Given the description of an element on the screen output the (x, y) to click on. 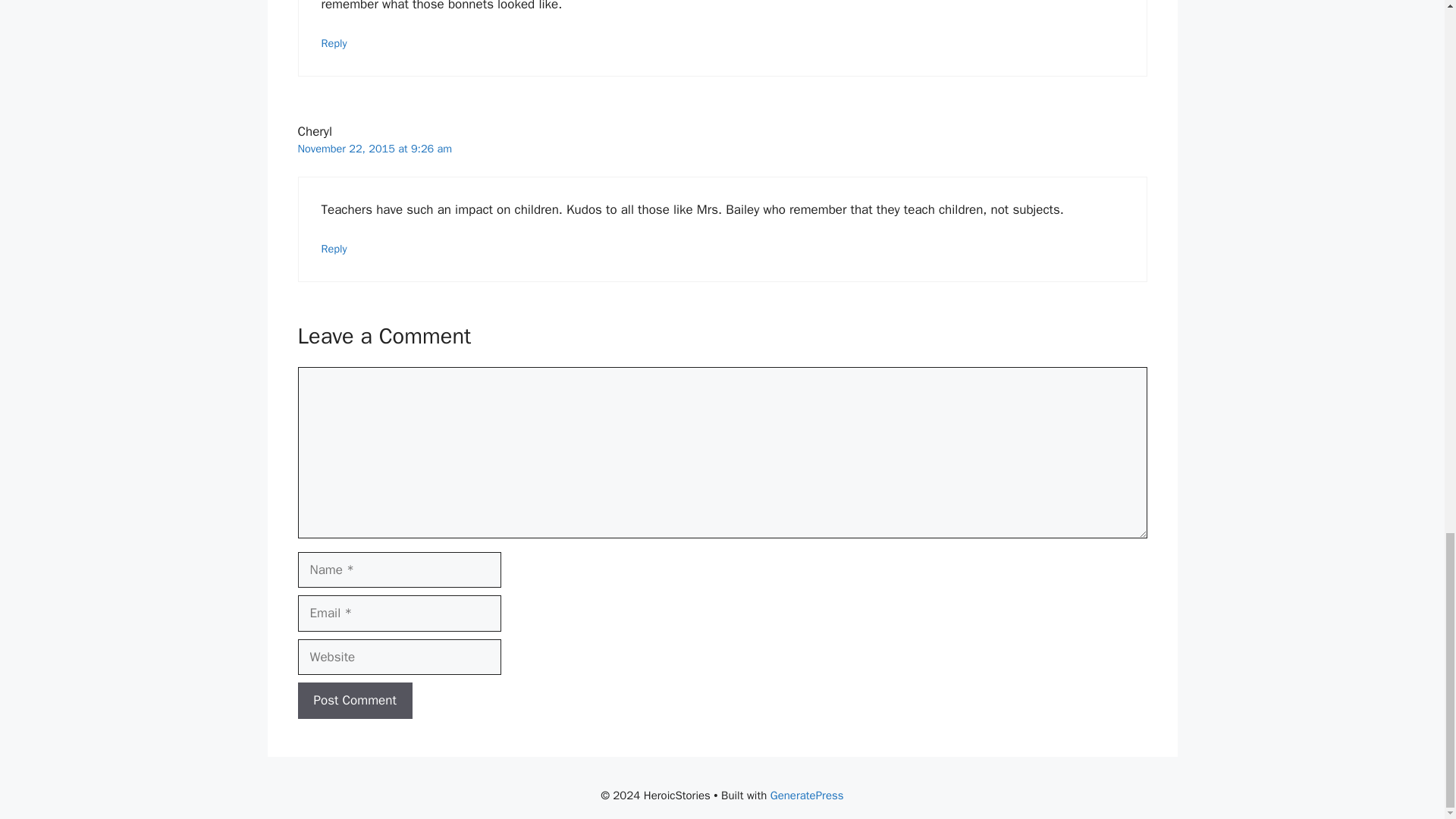
Post Comment (354, 700)
Reply (334, 42)
November 22, 2015 at 9:26 am (374, 148)
Reply (334, 248)
Post Comment (354, 700)
GeneratePress (807, 795)
